Given the description of an element on the screen output the (x, y) to click on. 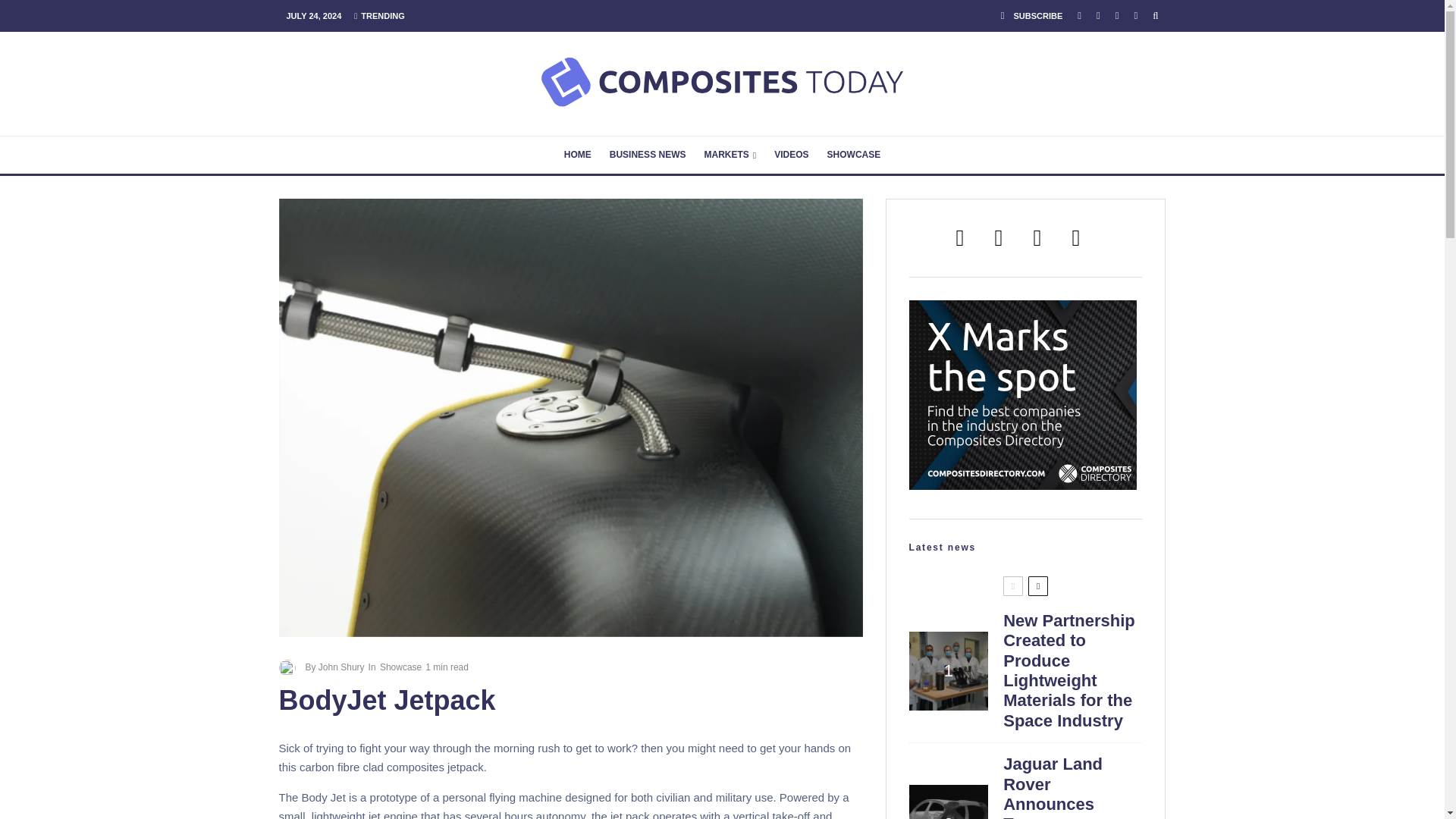
HOME (576, 155)
TRENDING (379, 15)
SUBSCRIBE (1031, 15)
BUSINESS NEWS (647, 155)
MARKETS (729, 155)
